Given the description of an element on the screen output the (x, y) to click on. 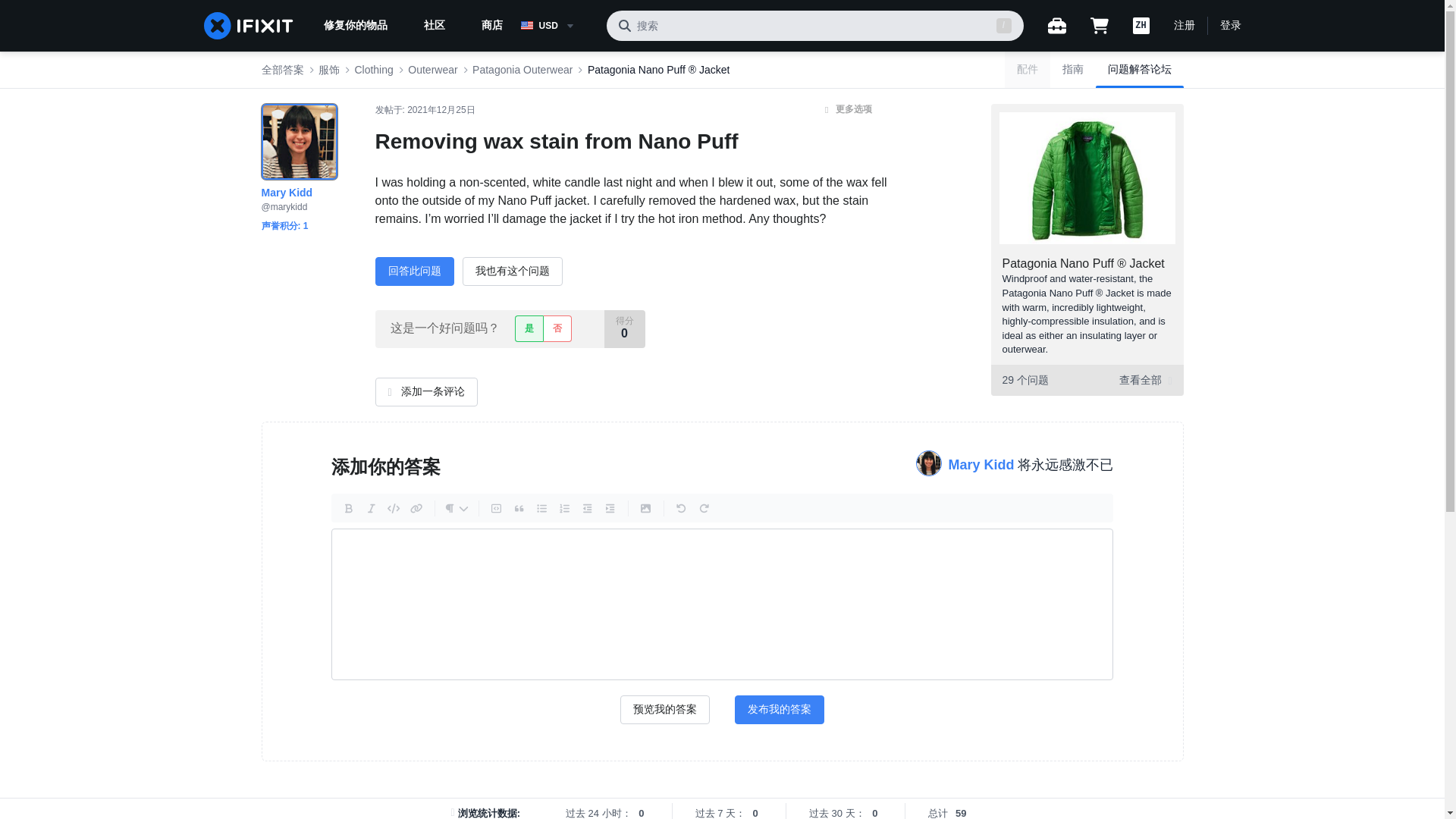
USD (556, 25)
Clothing (373, 69)
Outerwear (432, 69)
Patagonia Outerwear (521, 69)
Sat, 25 Dec 2021 10:09:05 -0700 (440, 109)
